Given the description of an element on the screen output the (x, y) to click on. 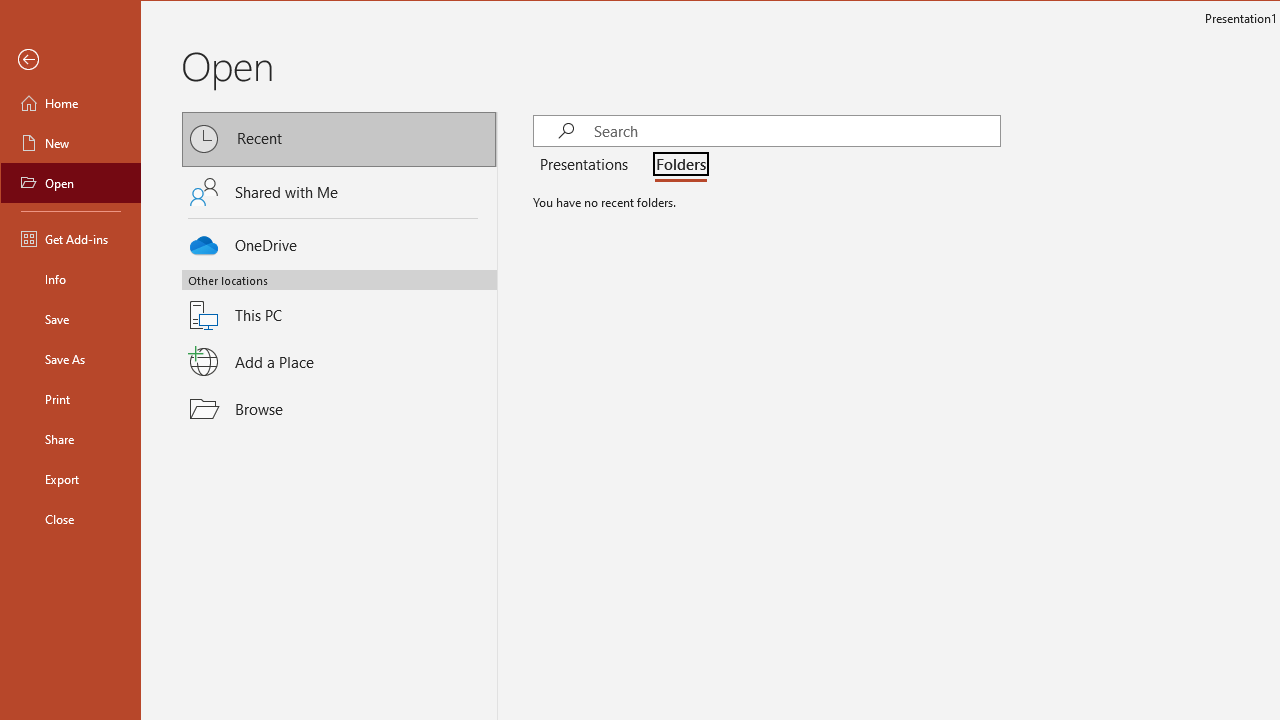
OneDrive (339, 241)
This PC (339, 303)
Save As (70, 358)
Folders (676, 165)
Get Add-ins (70, 238)
Add a Place (339, 361)
Print (70, 398)
